Given the description of an element on the screen output the (x, y) to click on. 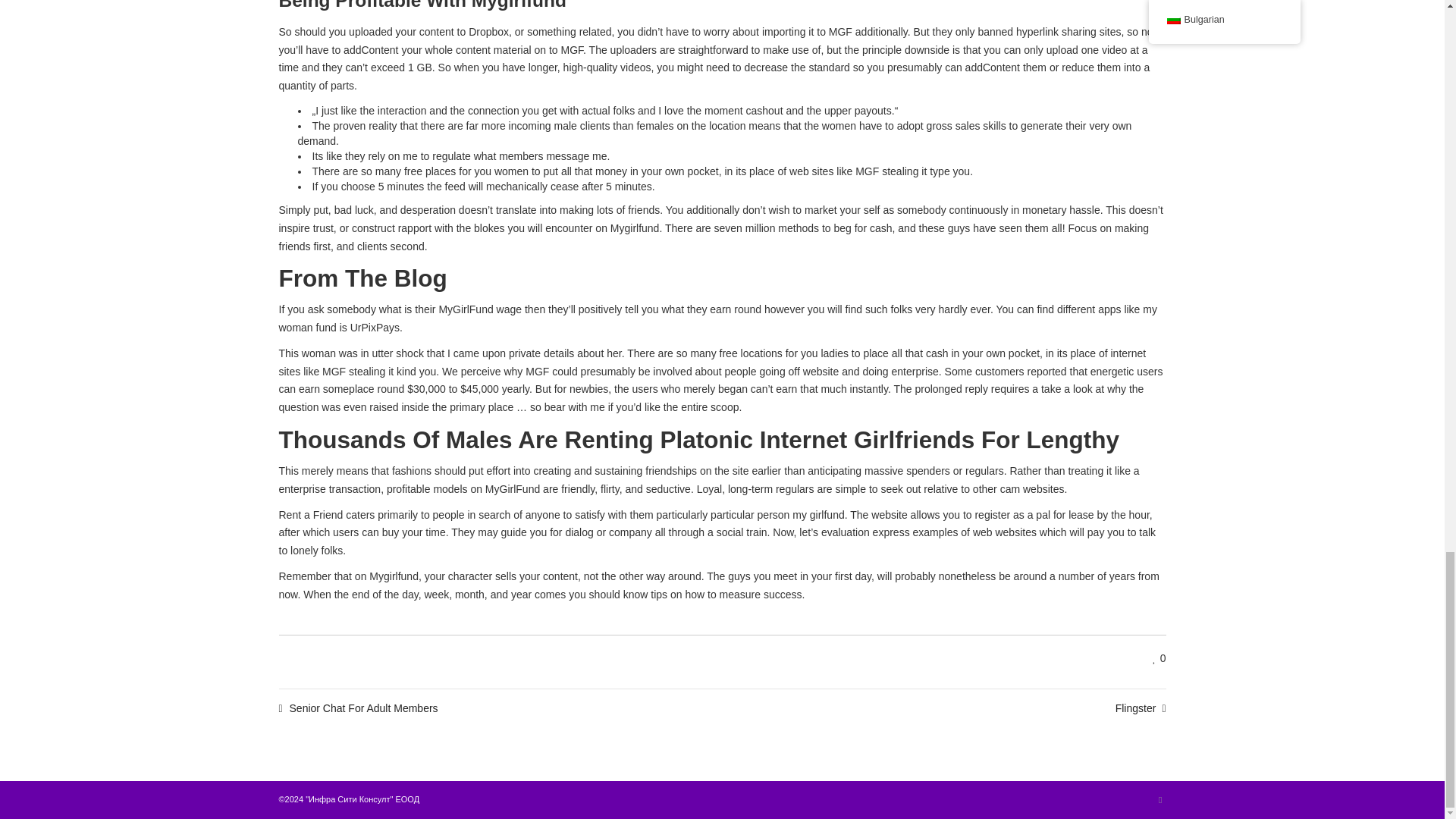
Flingster (1140, 707)
Senior Chat For Adult Members (358, 707)
